Given the description of an element on the screen output the (x, y) to click on. 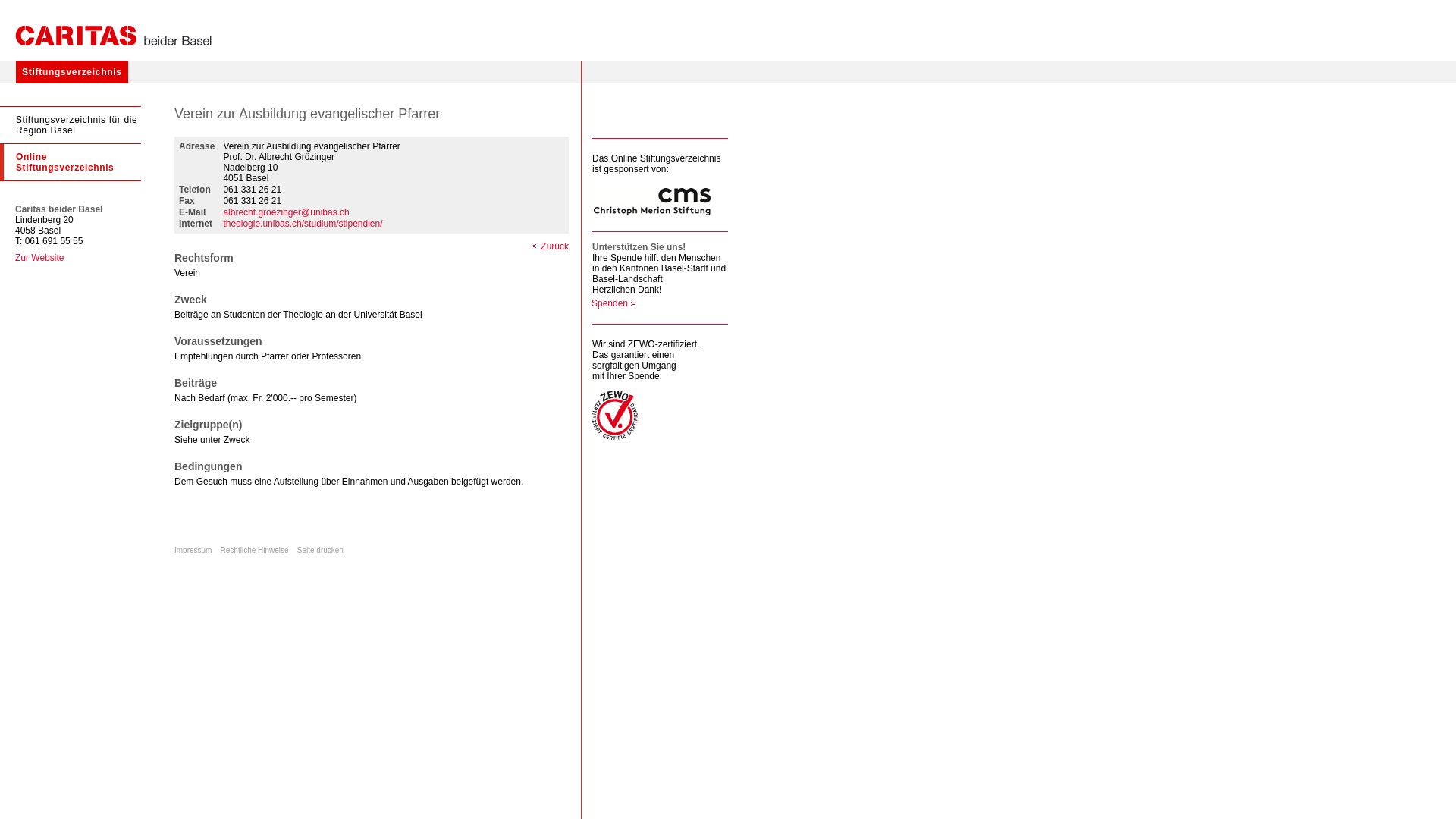
Stiftungsverzeichnis Element type: text (71, 71)
Impressum Element type: text (192, 550)
theologie.unibas.ch/studium/stipendien/ Element type: text (302, 223)
albrecht.groezinger@unibas.ch Element type: text (285, 212)
Spenden Element type: text (614, 303)
Caritas beider Basel Element type: hover (113, 35)
Online Stiftungsverzeichnis Element type: text (70, 161)
Zur Website Element type: text (39, 257)
Seite drucken Element type: text (320, 550)
Rechtliche Hinweise Element type: text (254, 550)
